Given the description of an element on the screen output the (x, y) to click on. 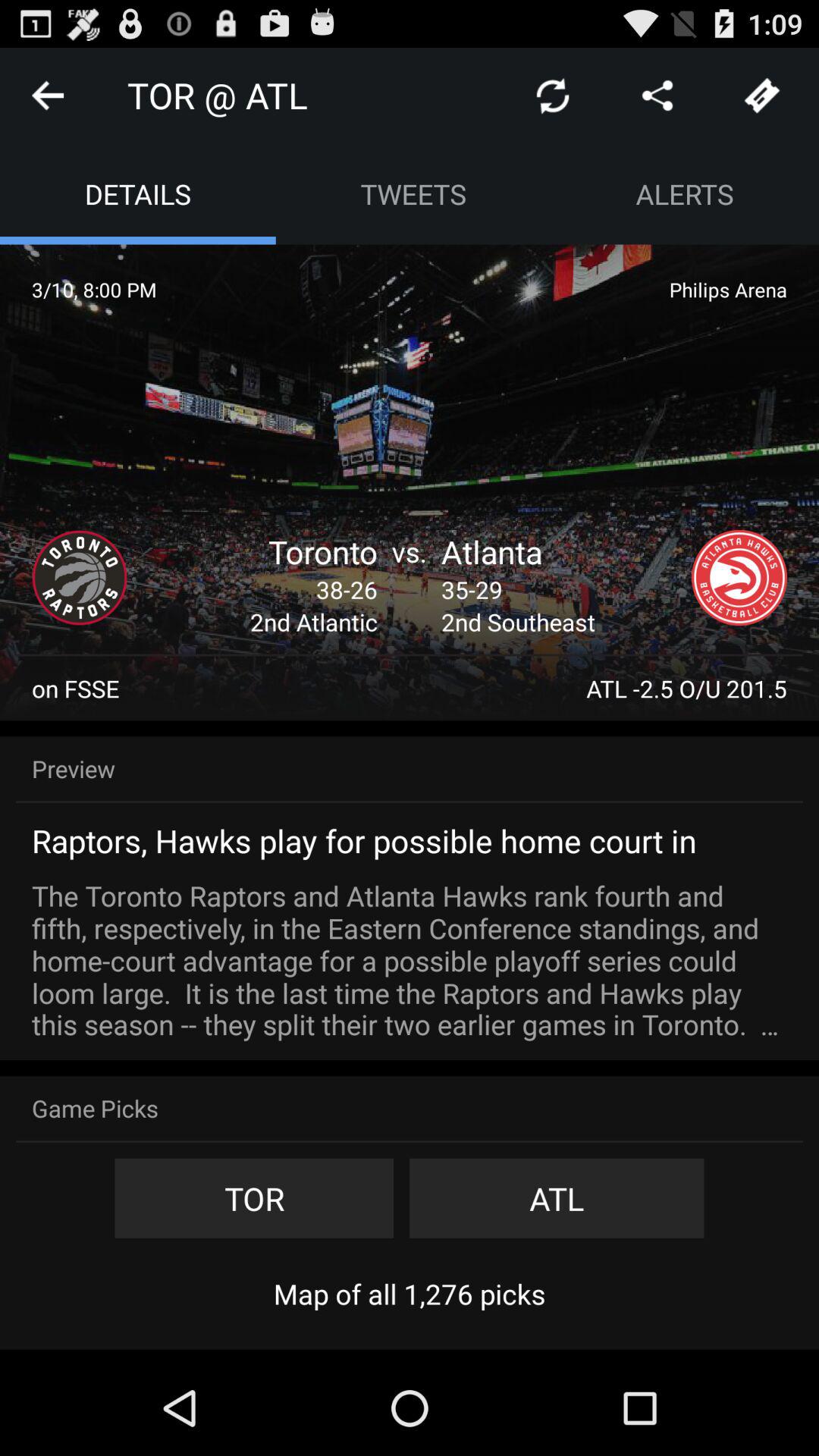
flip until the alerts app (685, 193)
